Given the description of an element on the screen output the (x, y) to click on. 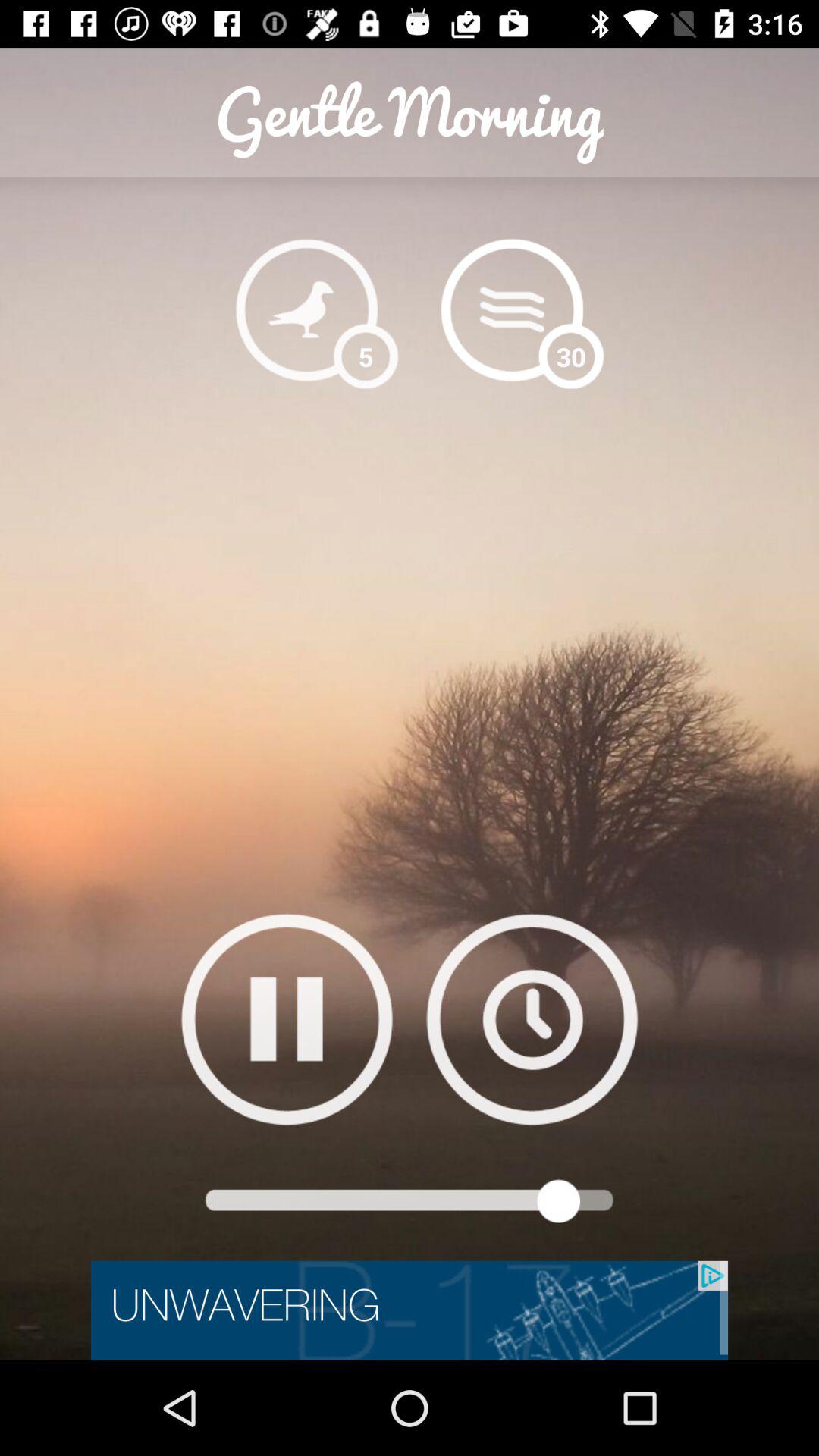
navigate to advertised item (409, 1310)
